Given the description of an element on the screen output the (x, y) to click on. 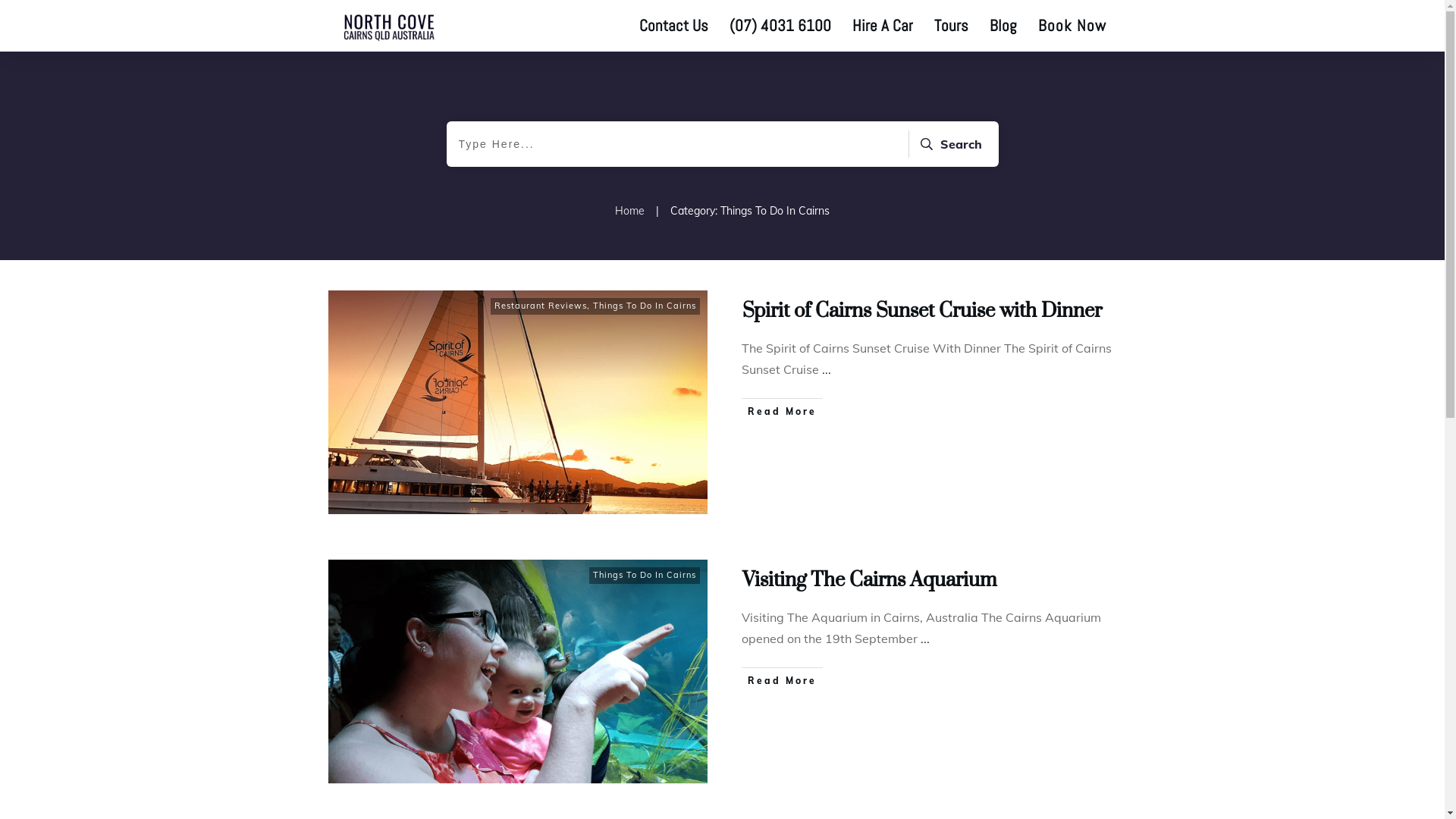
Read More Element type: text (781, 680)
Book Now Element type: text (1071, 25)
Tours Element type: text (951, 25)
Spirit of Cairns Sunset Cruise with Dinner Element type: text (921, 309)
Visiting The Cairns Aquarium Element type: text (868, 578)
... Element type: text (924, 638)
Home Element type: text (629, 210)
... Element type: text (826, 368)
Hire A Car Element type: text (882, 25)
Things To Do In Cairns Element type: text (644, 574)
Blog Element type: text (1002, 25)
(07) 4031 6100 Element type: text (780, 25)
Contact Us Element type: text (672, 25)
Search Element type: text (948, 143)
Read More Element type: text (781, 411)
Restaurant Reviews Element type: text (540, 305)
Things To Do In Cairns Element type: text (644, 305)
